Given the description of an element on the screen output the (x, y) to click on. 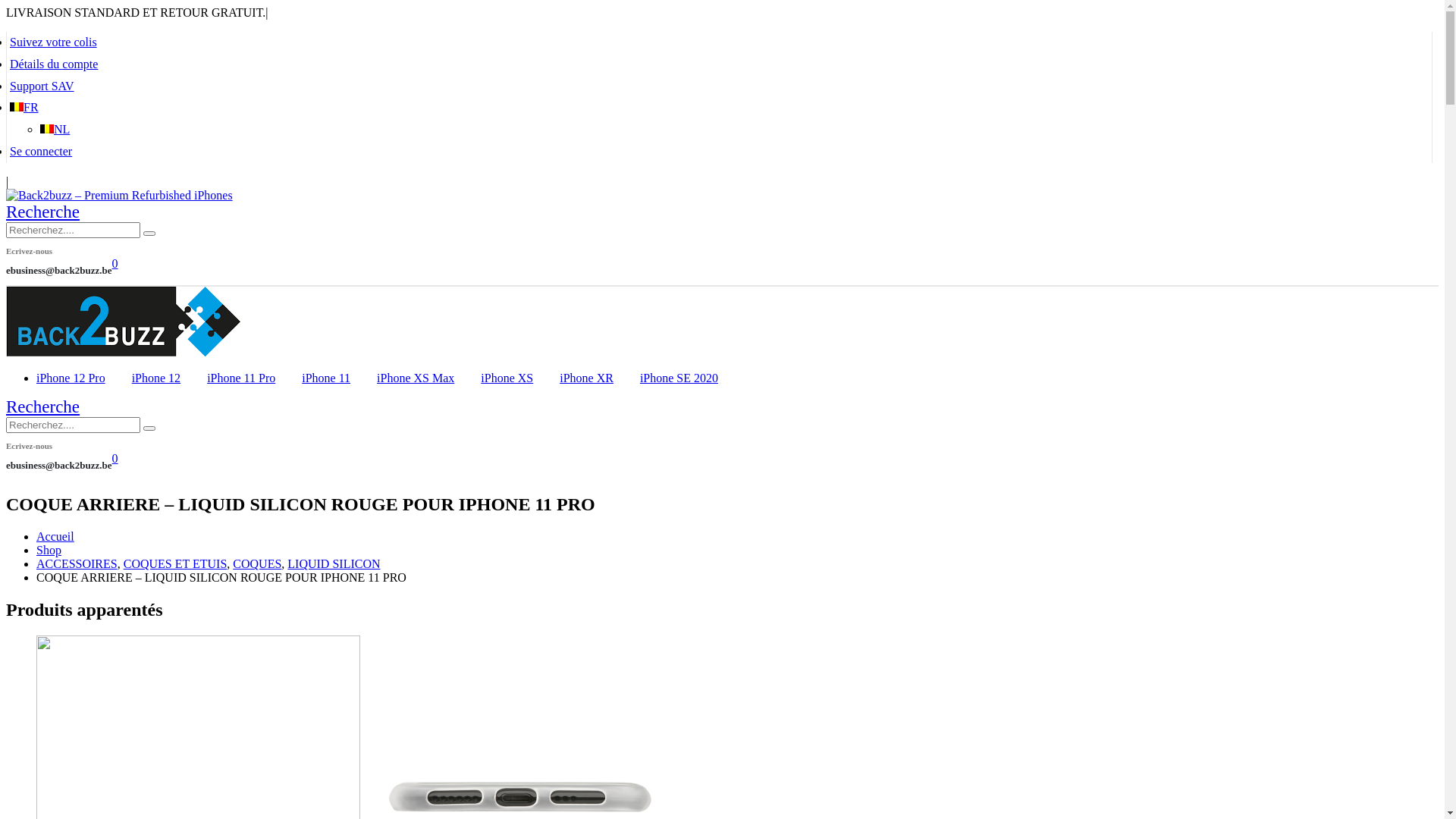
iPhone 12 Element type: text (155, 377)
NL Element type: text (54, 128)
FR Element type: text (23, 106)
iPhone XR Element type: text (586, 377)
iPhone 11 Element type: text (325, 377)
iPhone XS Max Element type: text (415, 377)
Support SAV Element type: text (41, 85)
LIQUID SILICON Element type: text (333, 563)
Se connecter Element type: text (40, 150)
iPhone SE 2020 Element type: text (679, 377)
Recherche Element type: text (42, 406)
COQUES Element type: text (256, 563)
Recherche Element type: text (42, 211)
COQUES ET ETUIS Element type: text (175, 563)
0 Element type: text (115, 456)
iPhone 12 Pro Element type: text (70, 377)
Suivez votre colis Element type: text (53, 41)
Recherche Element type: hover (149, 233)
iPhone XS Element type: text (506, 377)
iPhone 11 Pro Element type: text (241, 377)
ACCESSOIRES Element type: text (76, 563)
0 Element type: text (115, 261)
Accueil Element type: text (55, 536)
Shop Element type: text (48, 549)
Recherche Element type: hover (149, 428)
